Given the description of an element on the screen output the (x, y) to click on. 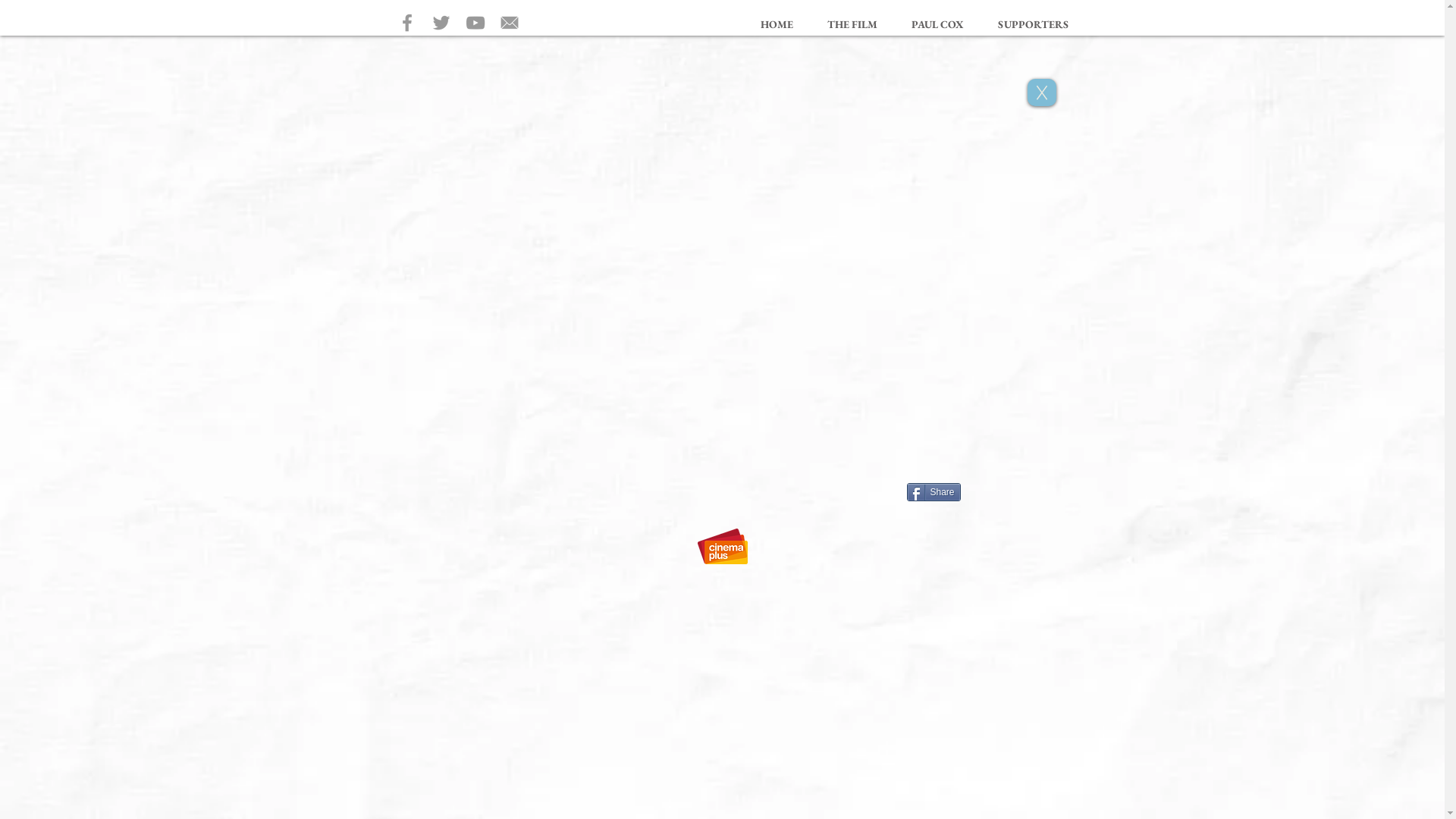
SUPPORTERS Element type: text (1033, 24)
External YouTube Element type: hover (719, 298)
Twitter Tweet Element type: hover (999, 493)
Share Element type: text (933, 492)
HOME Element type: text (776, 24)
